Given the description of an element on the screen output the (x, y) to click on. 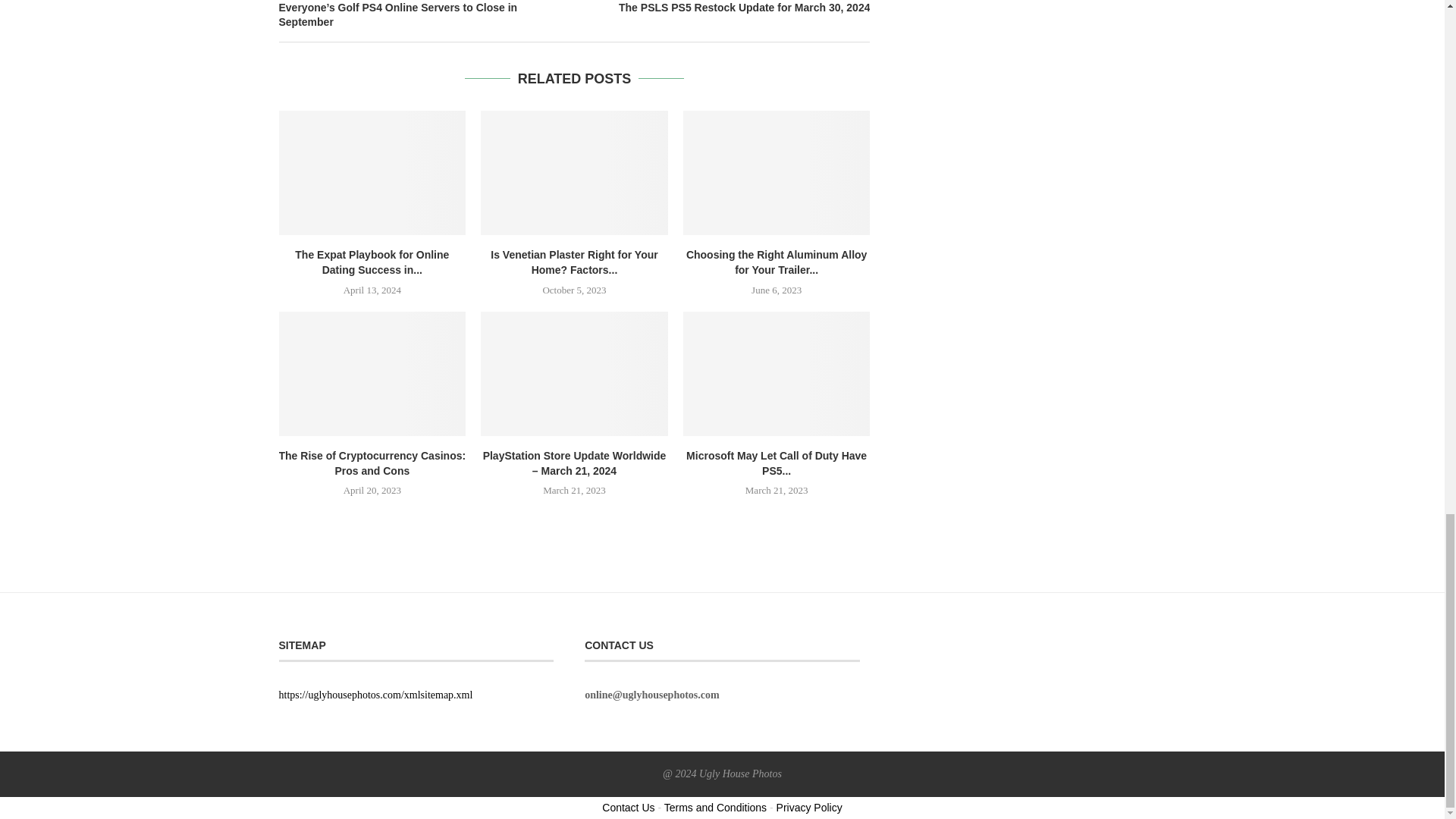
The Expat Playbook for Online Dating Success in Switzerland (372, 172)
Is Venetian Plaster Right for Your Home? Factors... (574, 262)
Choosing the Right Aluminum Alloy for Your Trailer... (776, 262)
The PSLS PS5 Restock Update for March 30, 2024 (722, 7)
The Expat Playbook for Online Dating Success in... (371, 262)
The Rise of Cryptocurrency Casinos: Pros and Cons (372, 373)
